Given the description of an element on the screen output the (x, y) to click on. 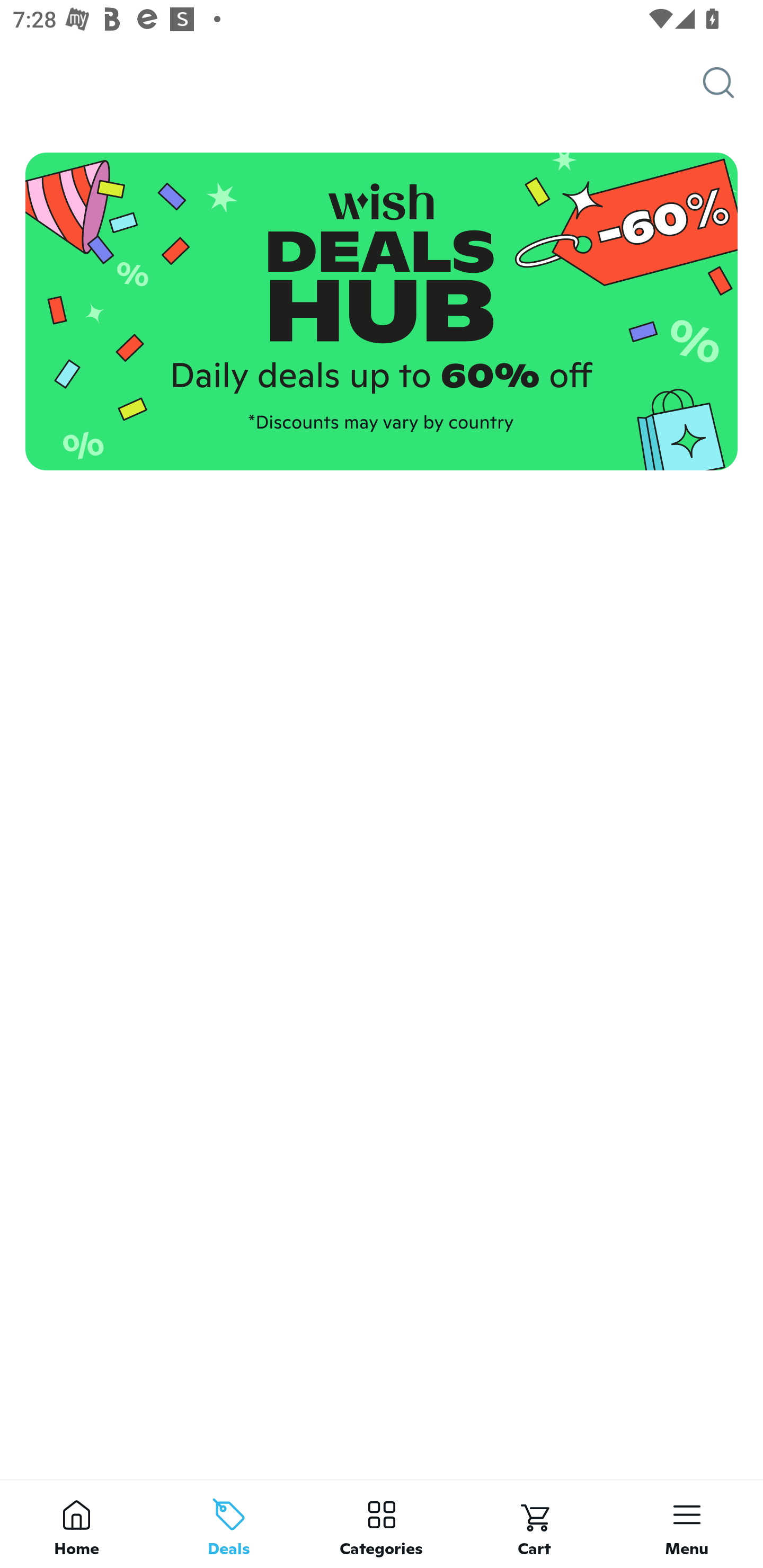
Search (732, 82)
Home (76, 1523)
Deals (228, 1523)
Categories (381, 1523)
Cart (533, 1523)
Menu (686, 1523)
